Given the description of an element on the screen output the (x, y) to click on. 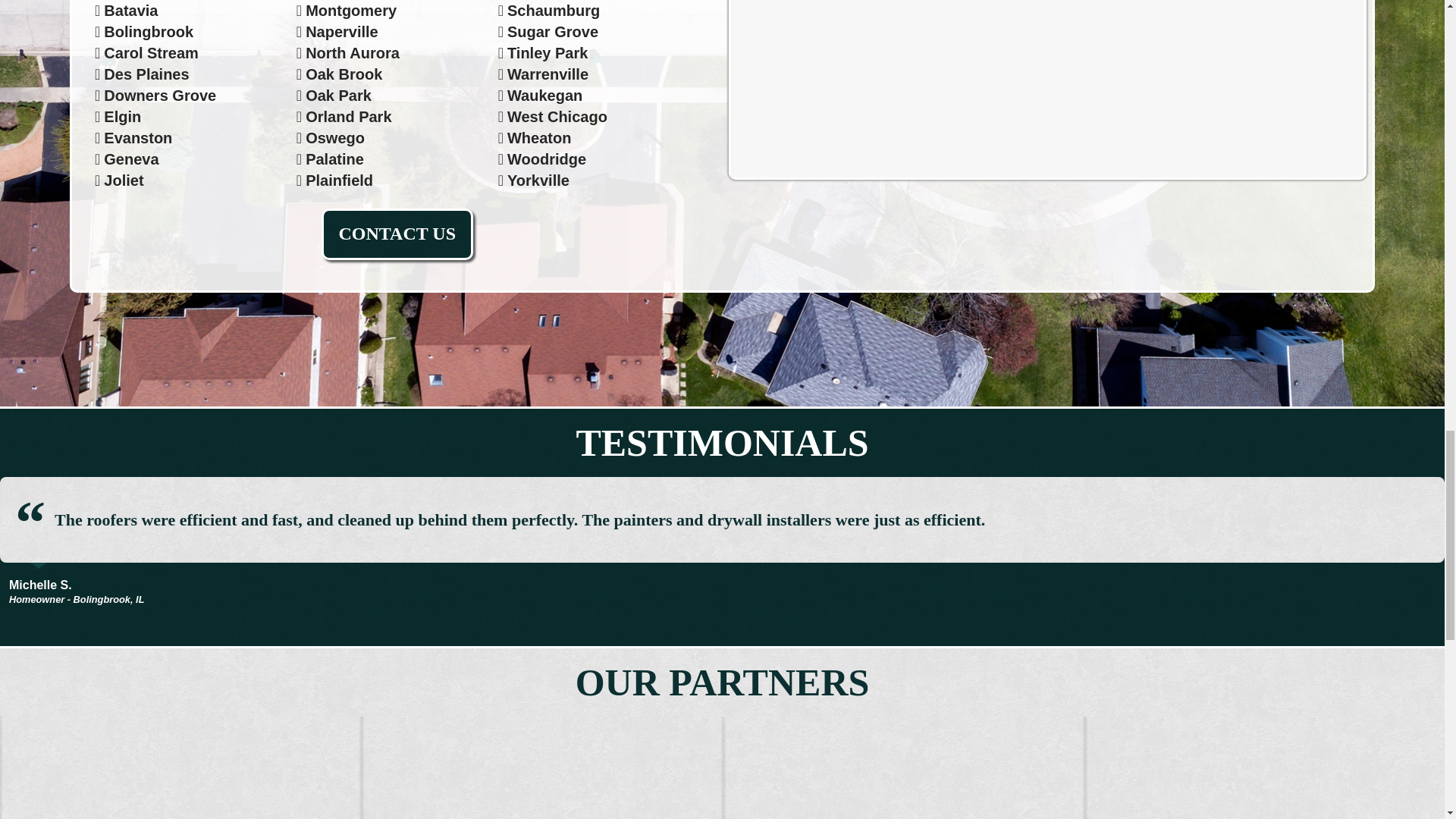
Owens Corning (542, 767)
IKO Roofing (180, 767)
CONTACT US (397, 234)
